Given the description of an element on the screen output the (x, y) to click on. 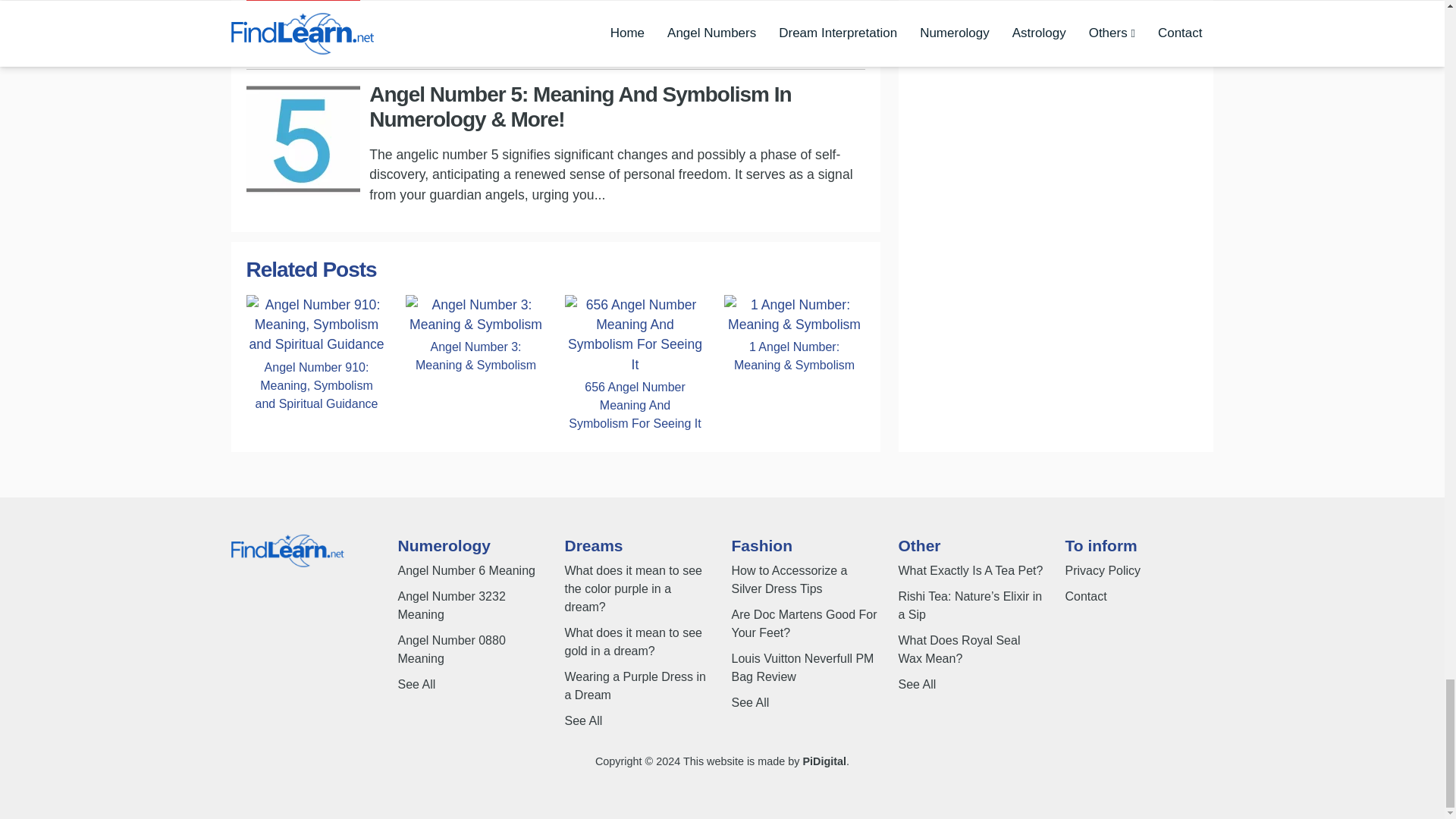
Angel Number 910: Meaning, Symbolism and Spiritual Guidance (316, 385)
Angel Number 910: Meaning, Symbolism and Spiritual Guidance (316, 323)
656 Angel Number Meaning And Symbolism For Seeing It (634, 405)
